Given the description of an element on the screen output the (x, y) to click on. 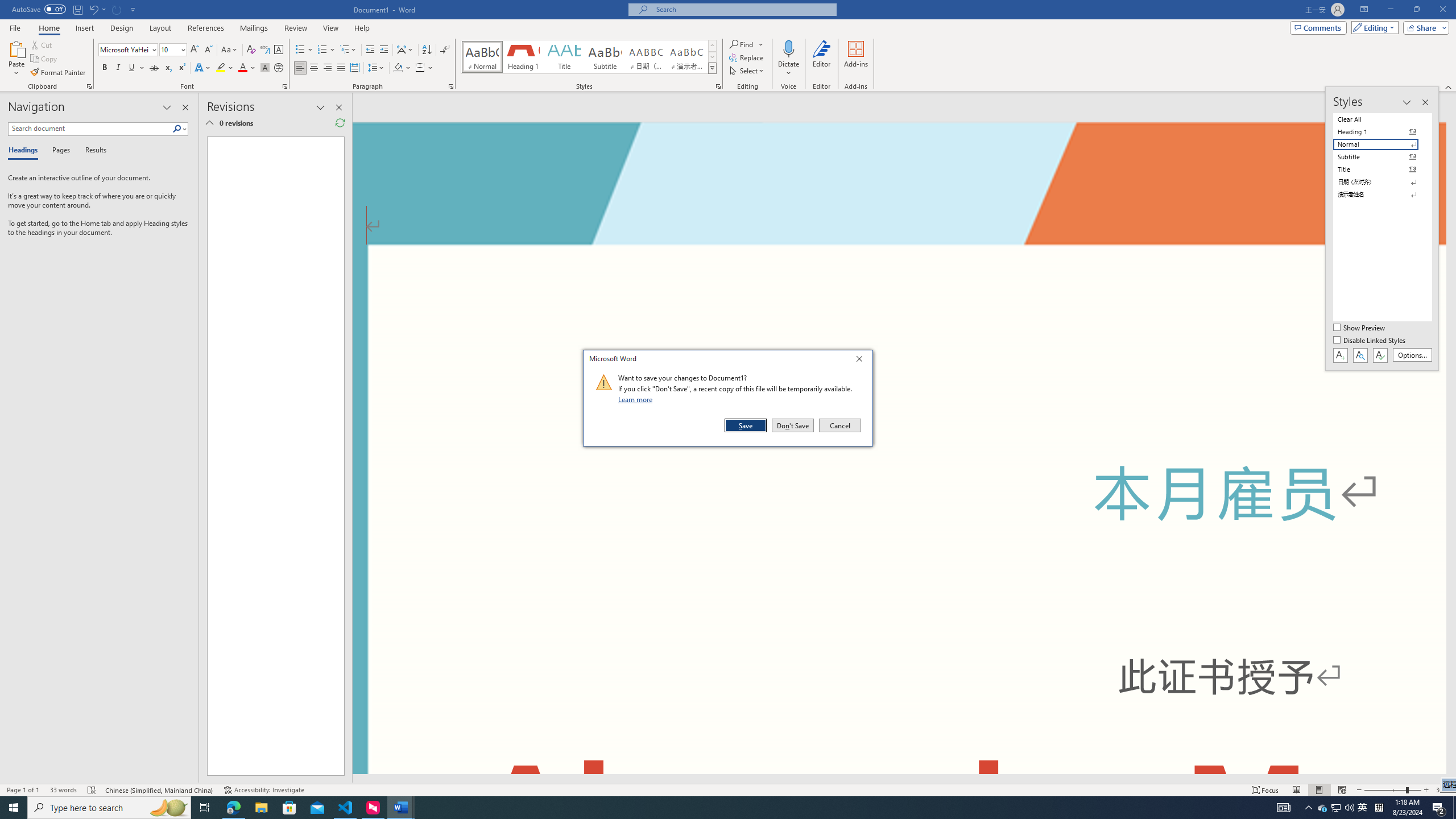
Pages (59, 150)
Disable Linked Styles (1370, 340)
Clear Formatting (250, 49)
Show/Hide Editing Marks (444, 49)
Search document (89, 128)
Home (48, 28)
Font... (285, 85)
AutomationID: QuickStylesGallery (588, 56)
Increase Indent (383, 49)
Clear All (1382, 119)
Undo Paragraph Alignment (92, 9)
Dictate (788, 48)
AutoSave (38, 9)
Word - 2 running windows (400, 807)
